Given the description of an element on the screen output the (x, y) to click on. 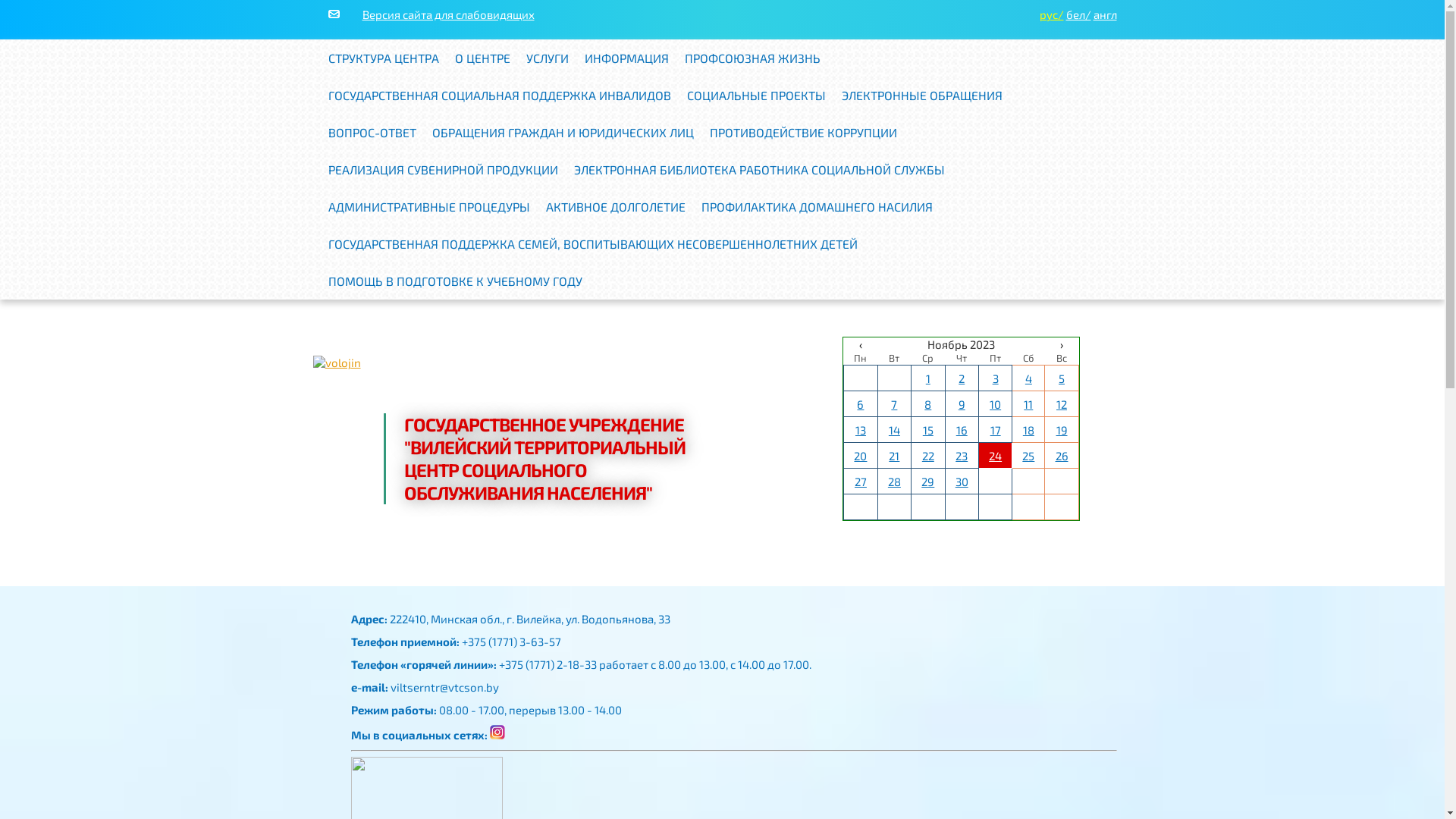
16 Element type: text (961, 429)
10 Element type: text (995, 404)
18 Element type: text (1028, 429)
23 Element type: text (961, 455)
3 Element type: text (995, 378)
22 Element type: text (928, 455)
24 Element type: text (994, 455)
19 Element type: text (1061, 429)
25 Element type: text (1028, 455)
13 Element type: text (860, 429)
5 Element type: text (1061, 378)
20 Element type: text (859, 455)
30 Element type: text (961, 481)
12 Element type: text (1061, 404)
17 Element type: text (995, 429)
11 Element type: text (1027, 404)
29 Element type: text (927, 481)
26 Element type: text (1061, 455)
7 Element type: text (894, 404)
9 Element type: text (961, 404)
2 Element type: text (961, 378)
4 Element type: text (1028, 378)
14 Element type: text (894, 429)
6 Element type: text (859, 404)
8 Element type: text (927, 404)
28 Element type: text (894, 481)
27 Element type: text (860, 481)
1 Element type: text (927, 378)
15 Element type: text (927, 429)
21 Element type: text (893, 455)
